Given the description of an element on the screen output the (x, y) to click on. 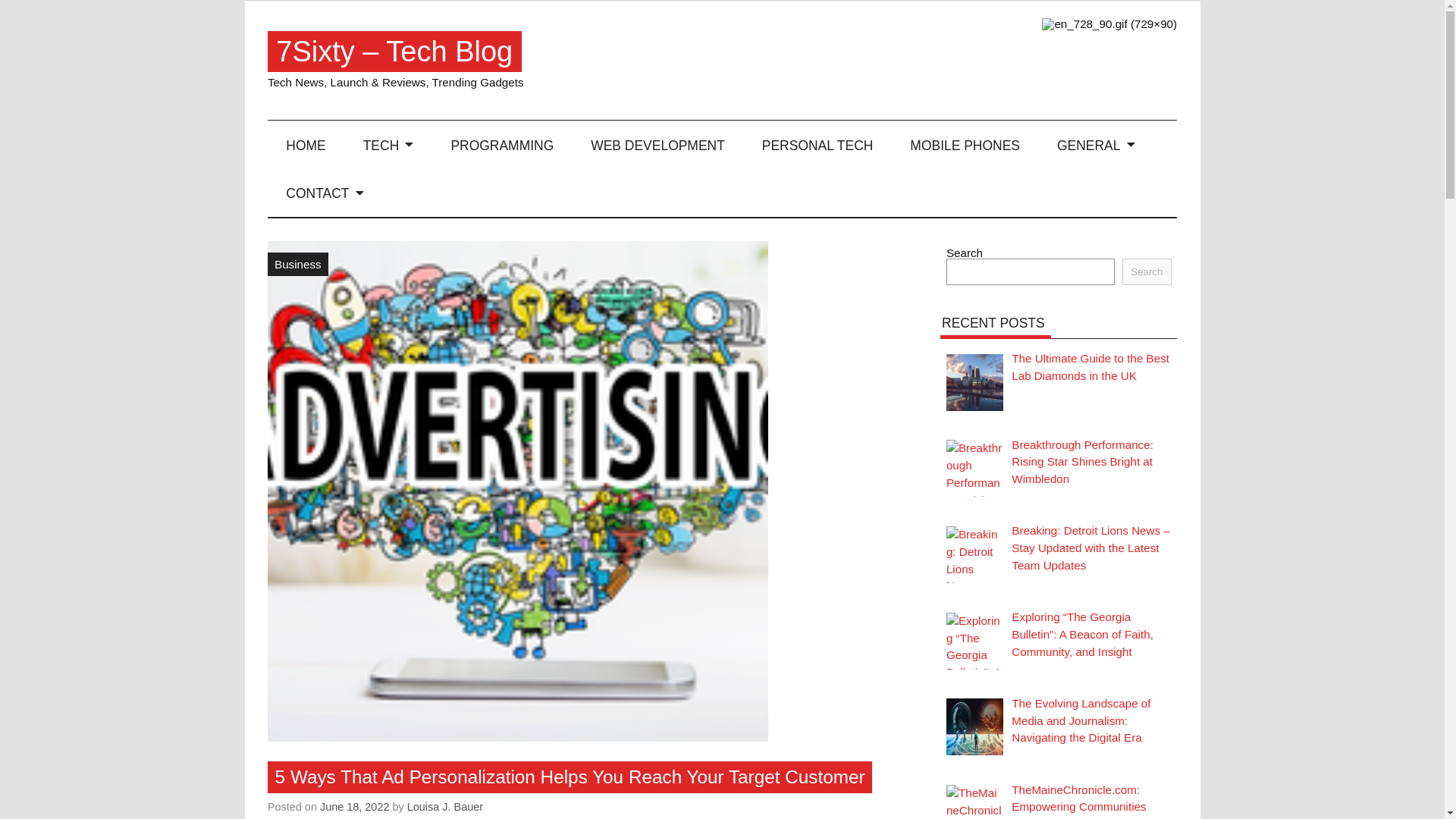
June 18, 2022 (355, 806)
10:41 am (355, 806)
View all posts by Louisa J. Bauer (445, 806)
GENERAL (1095, 144)
CONTACT (324, 192)
Louisa J. Bauer (445, 806)
WEB DEVELOPMENT (658, 144)
Business (298, 263)
Search (1146, 271)
PERSONAL TECH (816, 144)
PROGRAMMING (502, 144)
